Given the description of an element on the screen output the (x, y) to click on. 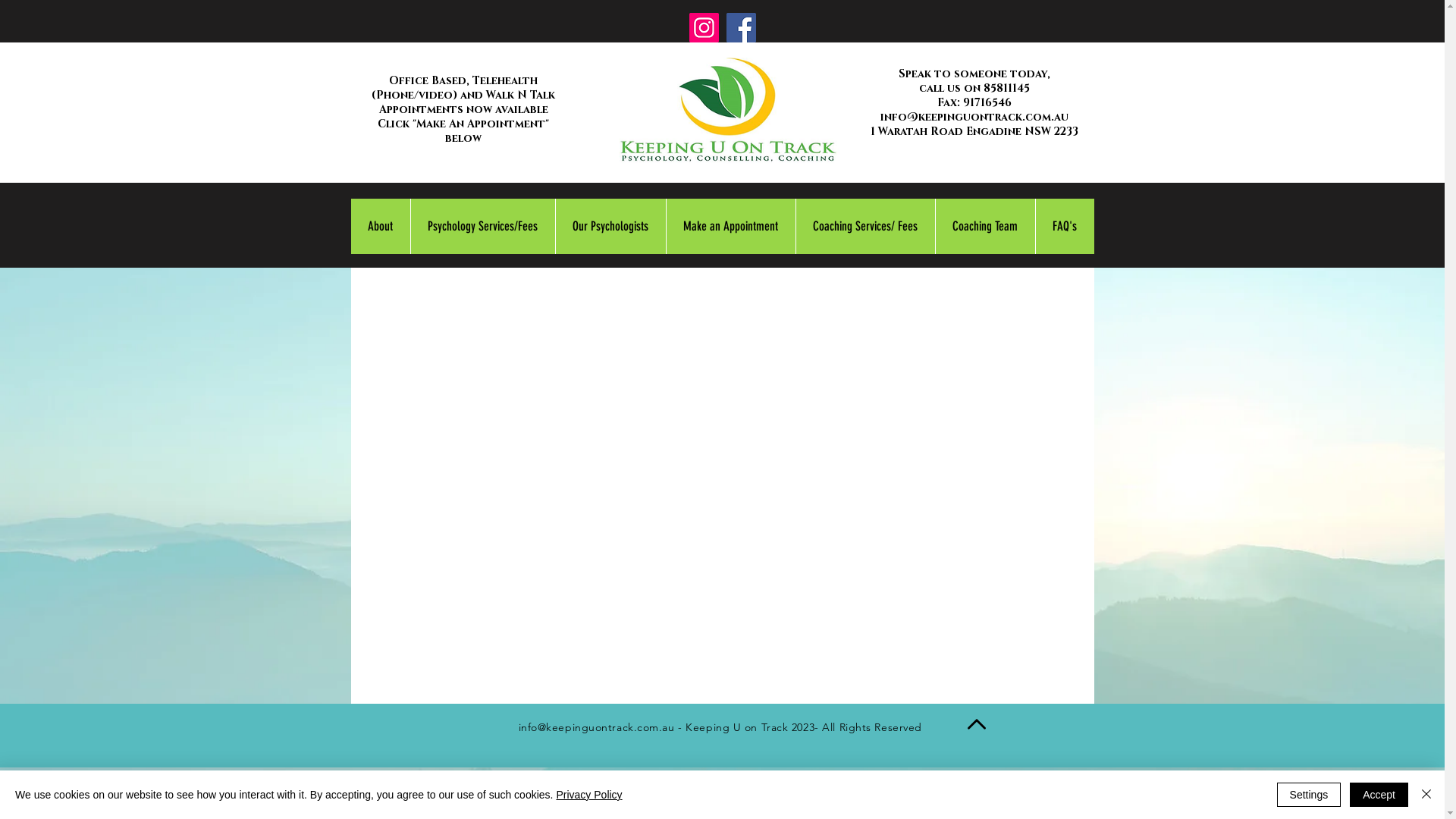
Psychology Services/Fees Element type: text (481, 226)
Coaching Team Element type: text (984, 226)
Settings Element type: text (1309, 794)
Make an Appointment Element type: text (730, 226)
Privacy Policy Element type: text (588, 794)
Accept Element type: text (1378, 794)
info@keepinguontrack.com.au Element type: text (974, 116)
About Element type: text (379, 226)
FAQ's Element type: text (1063, 226)
Coaching Services/ Fees Element type: text (864, 226)
Our Psychologists Element type: text (610, 226)
